Given the description of an element on the screen output the (x, y) to click on. 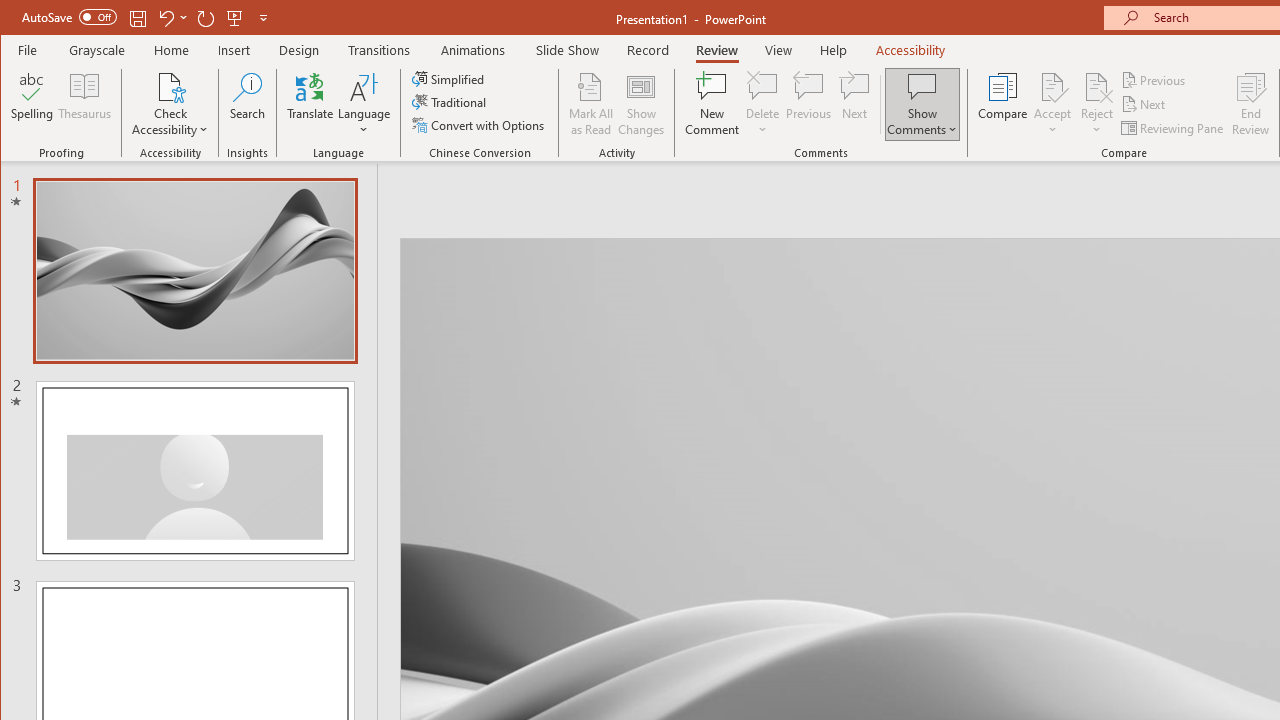
Reviewing Pane (1173, 127)
